Given the description of an element on the screen output the (x, y) to click on. 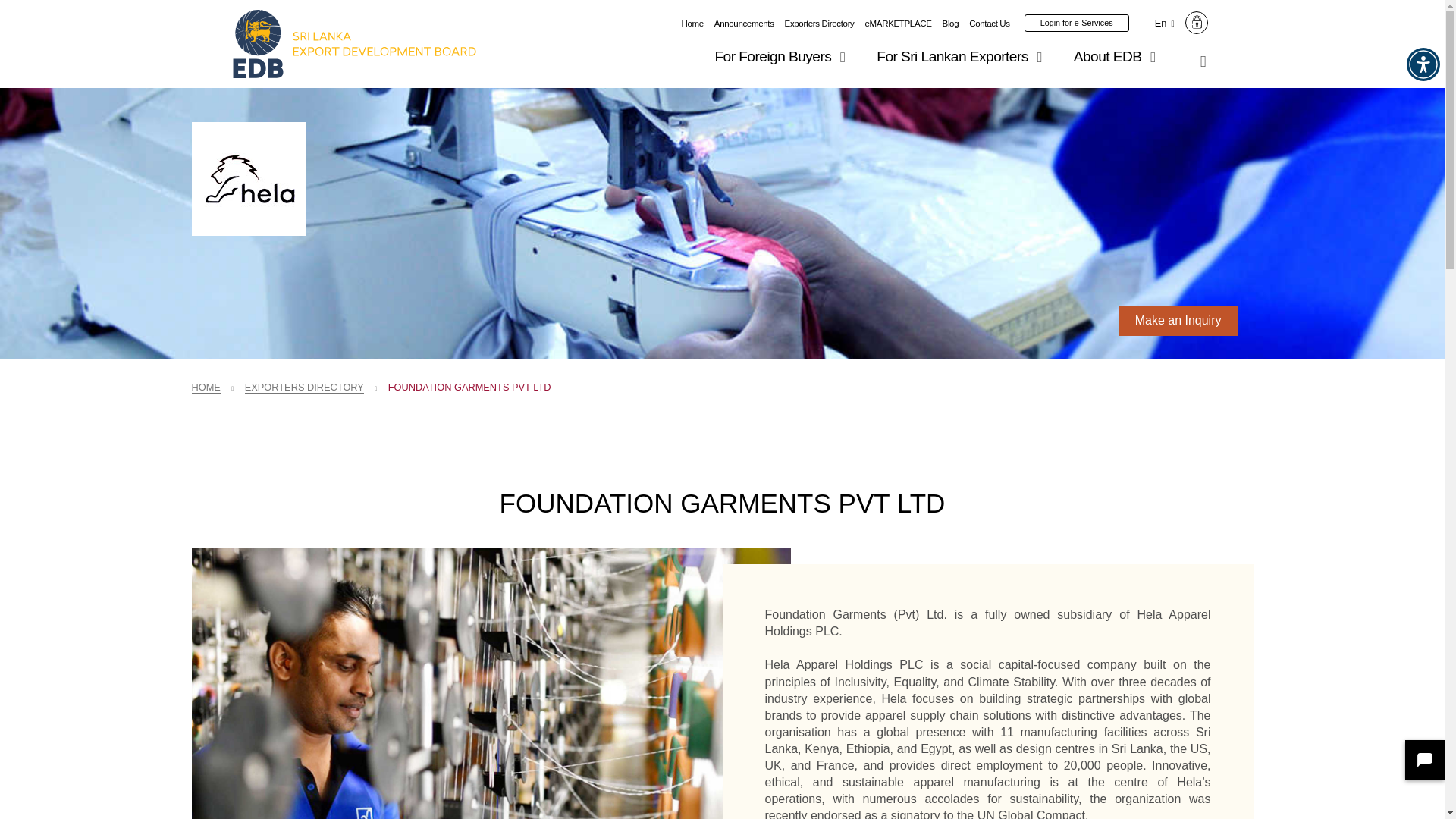
Announcements (744, 22)
For Sri Lankan Exporters (961, 56)
Export Development Board  (354, 43)
Contact Us (989, 22)
Blog (950, 22)
Make an Inquiry (1178, 320)
Exporters Directory (819, 22)
Sign in (1196, 22)
About EDB (1117, 56)
Make an Inquiry (1178, 320)
